Given the description of an element on the screen output the (x, y) to click on. 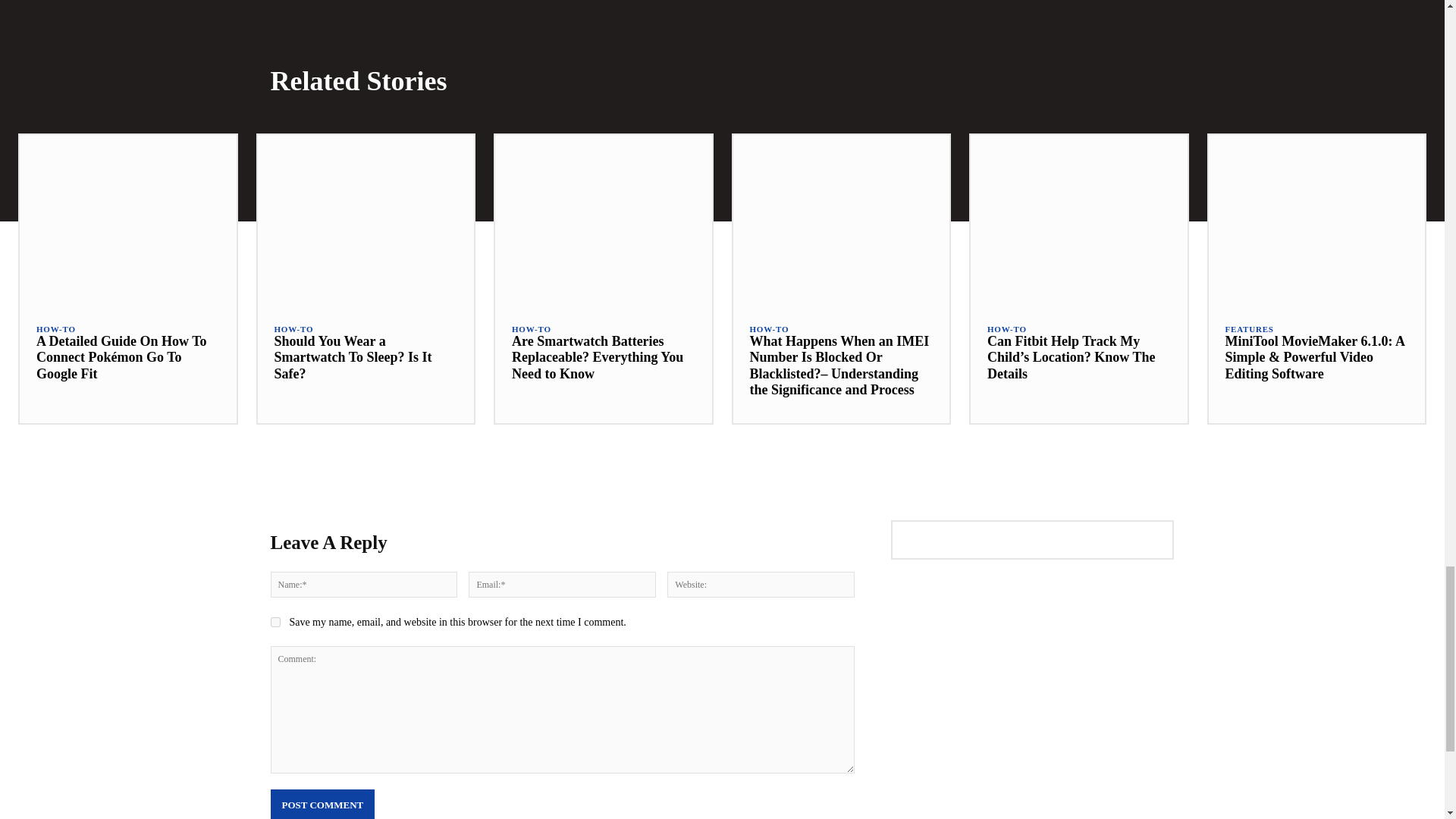
Should You Wear a Smartwatch To Sleep? Is It Safe? (365, 221)
Should You Wear a Smartwatch To Sleep? Is It Safe? (353, 357)
yes (274, 622)
Post Comment (321, 804)
